Given the description of an element on the screen output the (x, y) to click on. 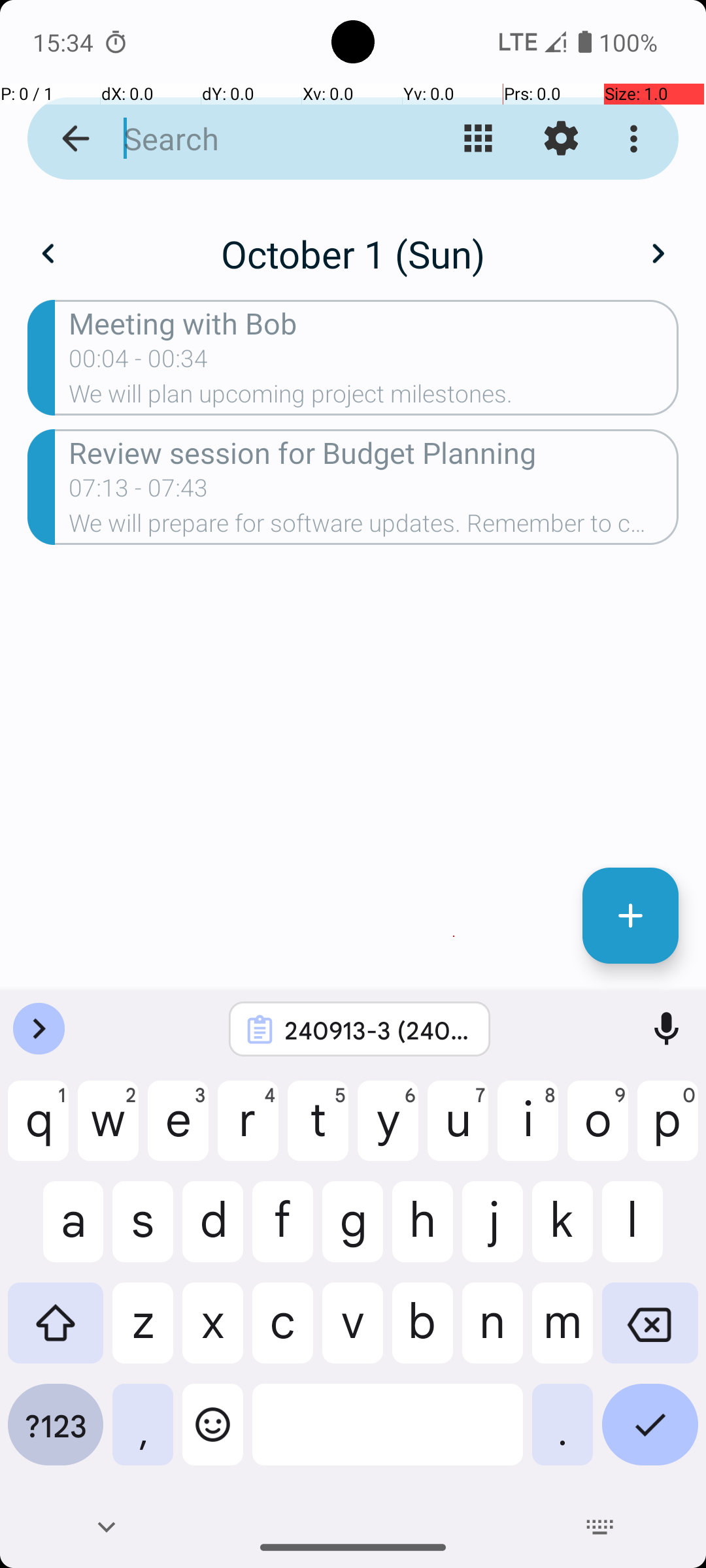
October 1 (Sun) Element type: android.widget.TextView (352, 253)
00:04 - 00:34 Element type: android.widget.TextView (137, 362)
We will plan upcoming project milestones. Element type: android.widget.TextView (373, 397)
07:13 - 07:43 Element type: android.widget.TextView (137, 491)
We will prepare for software updates. Remember to confirm attendance. Element type: android.widget.TextView (373, 526)
240913-3 (240906-2的from base对照组) Element type: android.widget.TextView (376, 1029)
